Given the description of an element on the screen output the (x, y) to click on. 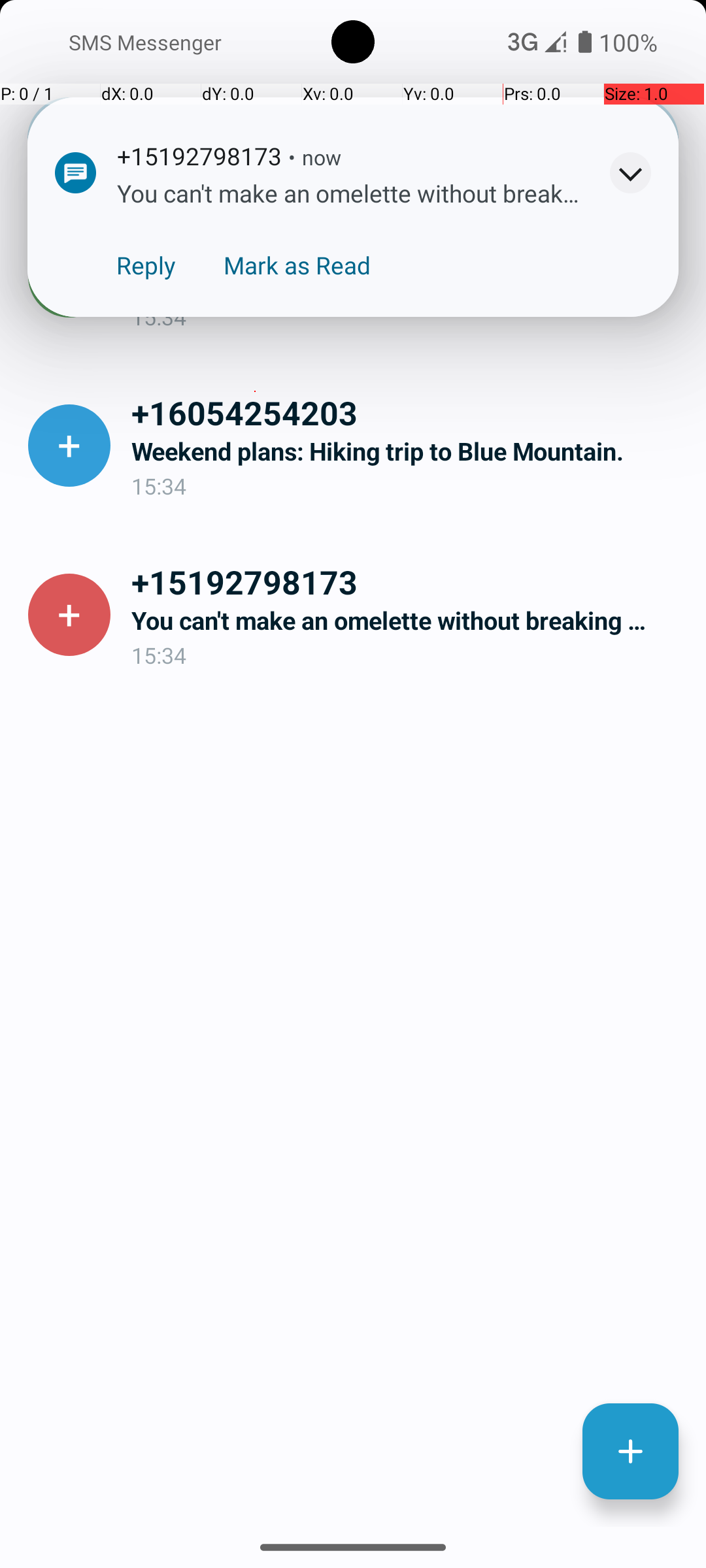
+10033058735 Element type: android.widget.TextView (408, 242)
Lorem Ipsum is simply dummy text. Element type: android.widget.TextView (408, 281)
+16054254203 Element type: android.widget.TextView (408, 412)
Weekend plans: Hiking trip to Blue Mountain. Element type: android.widget.TextView (408, 450)
+15192798173 Element type: android.widget.TextView (408, 581)
You can't make an omelette without breaking a few eggs. Element type: android.widget.TextView (408, 620)
On Element type: android.widget.Switch (186, 40)
Off Element type: android.widget.Switch (518, 109)
Expand Element type: android.widget.Button (630, 172)
Reply Element type: android.widget.Button (146, 265)
Mark as Read Element type: android.widget.Button (296, 265)
• Element type: android.widget.TextView (291, 157)
now Element type: android.widget.TextView (321, 157)
Alerted Element type: android.widget.ImageView (361, 158)
